Given the description of an element on the screen output the (x, y) to click on. 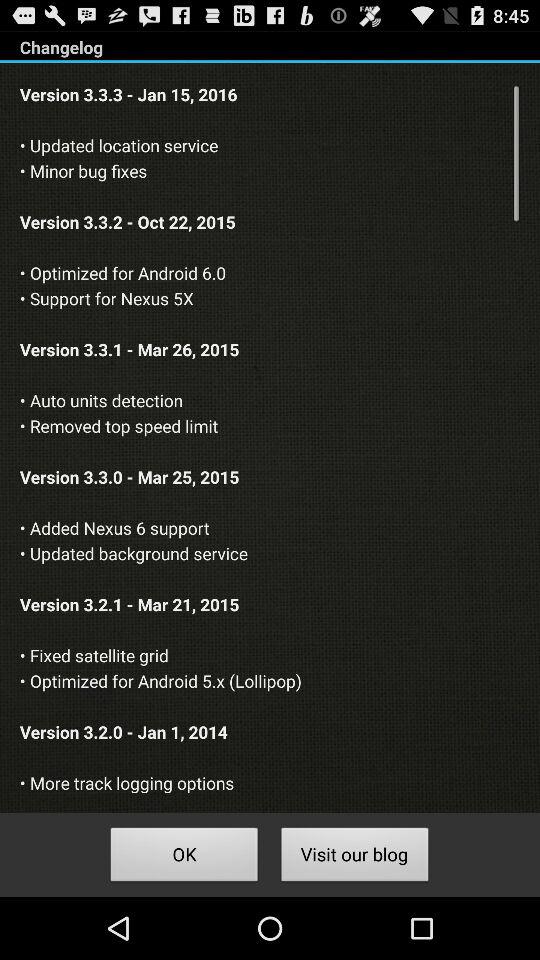
press button to the right of the ok button (354, 857)
